Given the description of an element on the screen output the (x, y) to click on. 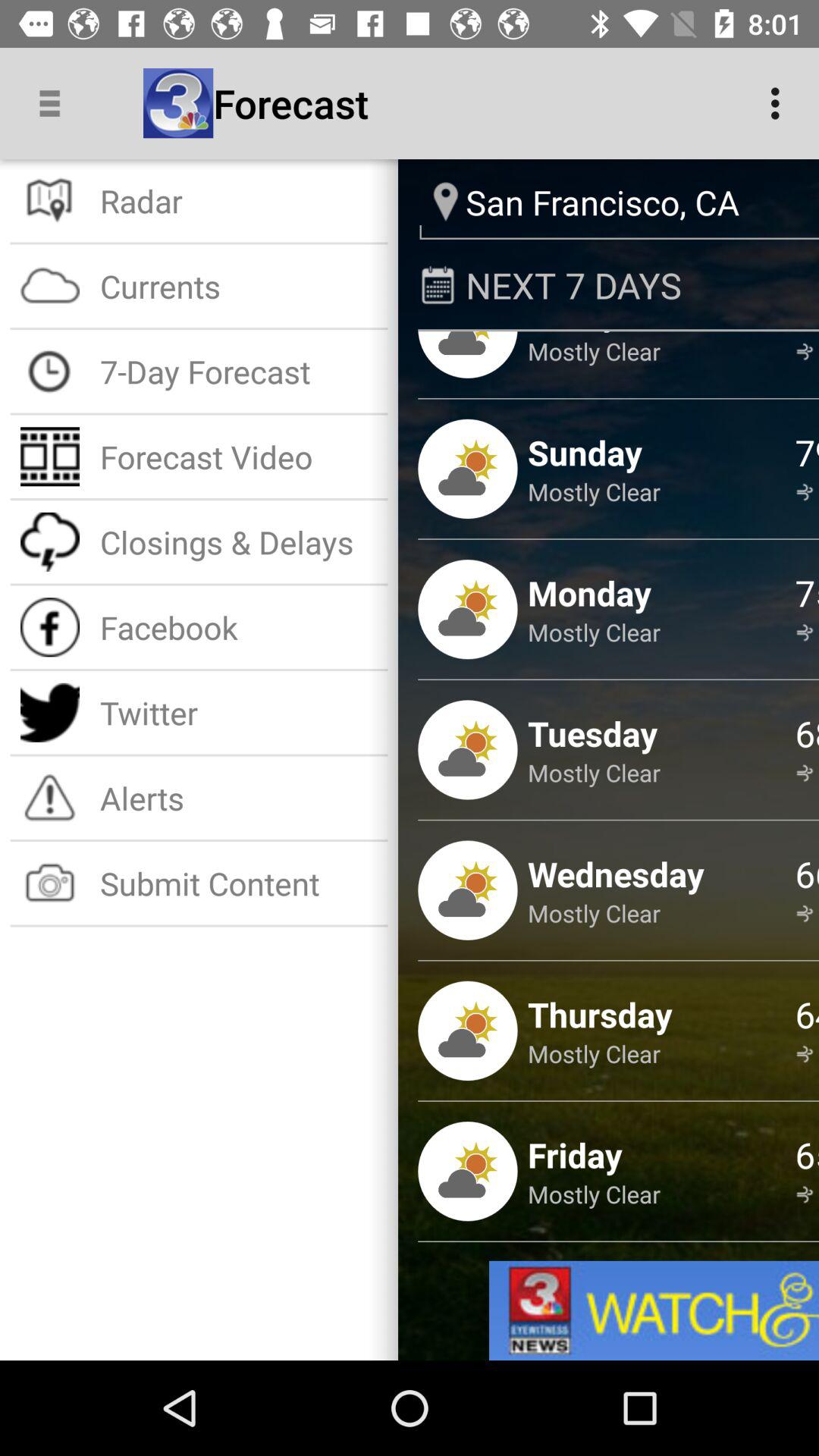
press the icon next to thursday (807, 1014)
